Given the description of an element on the screen output the (x, y) to click on. 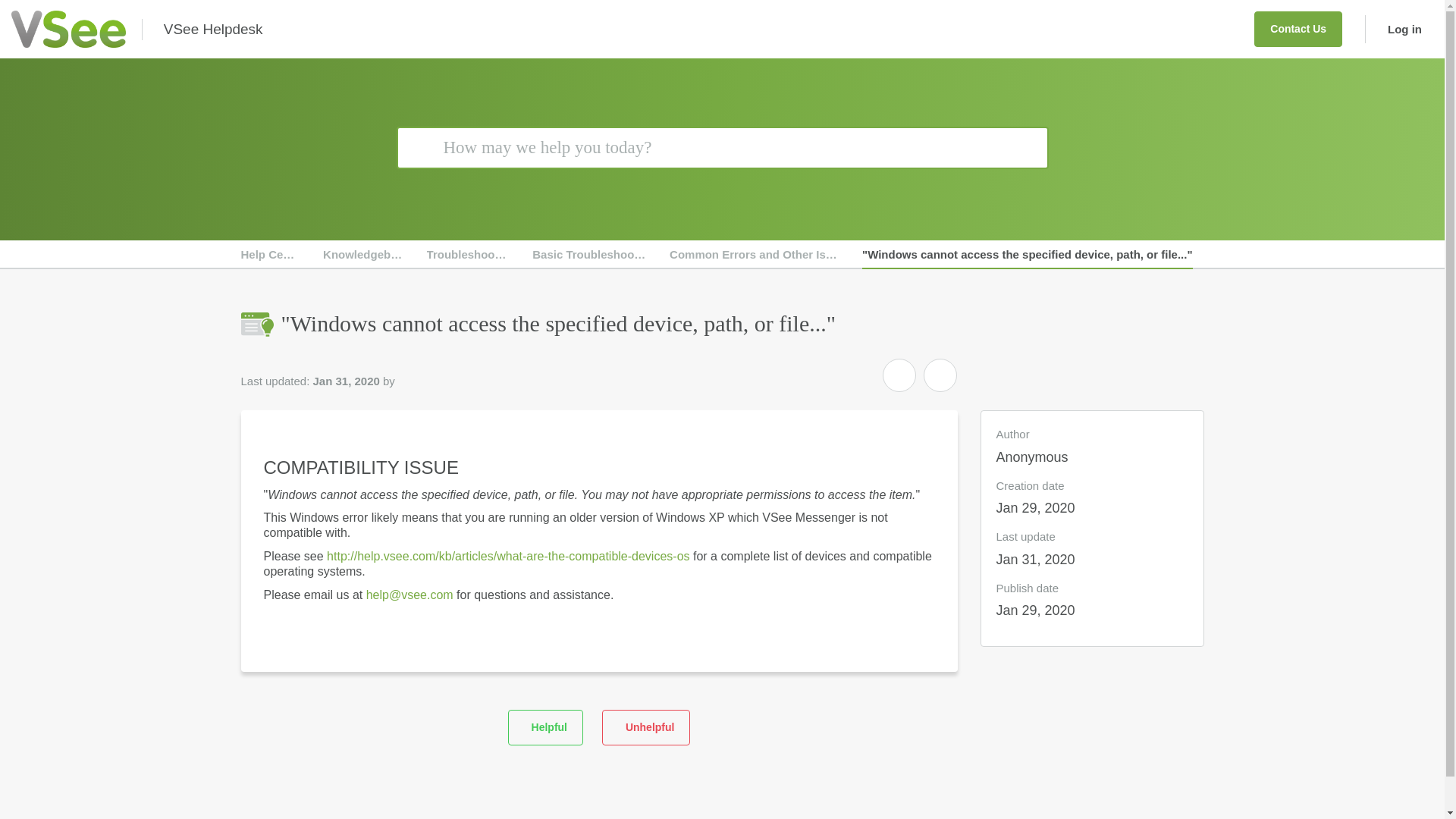
Common Errors and Other Issues (754, 254)
Knowledgebase (363, 254)
Basic Troubleshooting (589, 254)
Unhelpful (646, 727)
Help Center (271, 254)
Helpful (545, 727)
Contact Us (1297, 28)
Troubleshooting (468, 254)
VSee Helpdesk (213, 29)
